Given the description of an element on the screen output the (x, y) to click on. 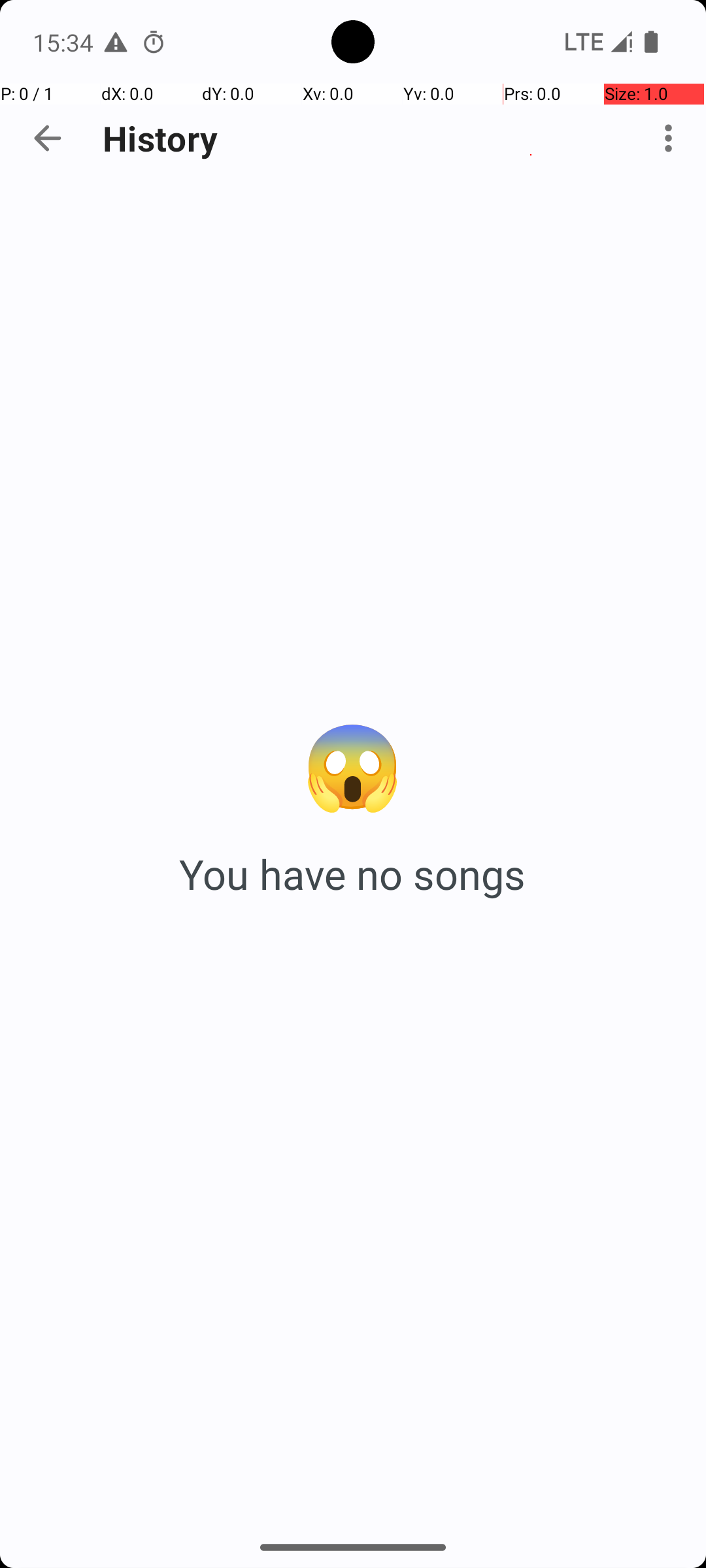
😱 Element type: android.widget.TextView (352, 763)
You have no songs Element type: android.widget.TextView (352, 873)
